Given the description of an element on the screen output the (x, y) to click on. 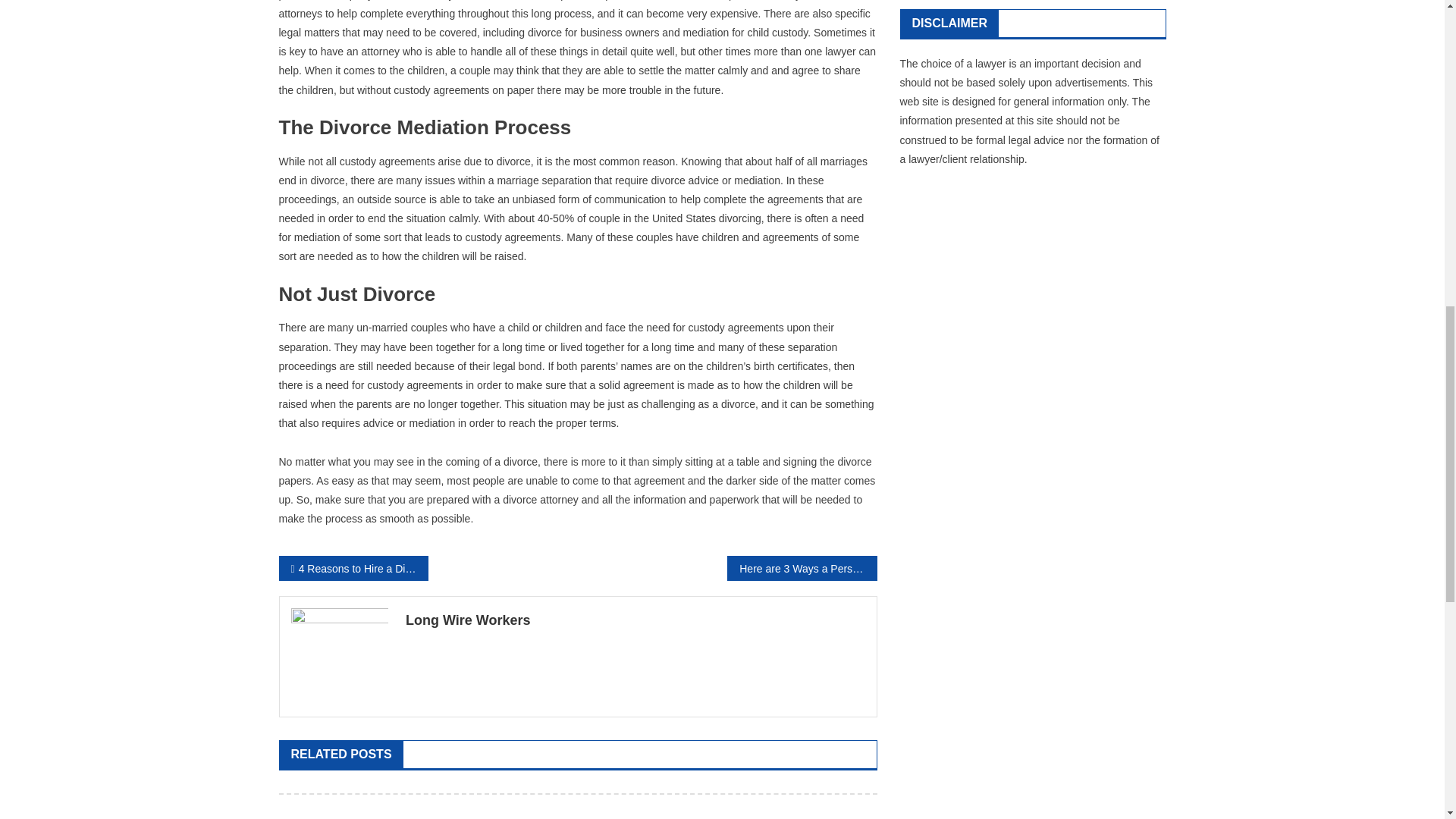
Here are 3 Ways a Personal Injury Lawyer Can Help You (801, 567)
4 Reasons to Hire a Divorce Lawyer Right Away (353, 567)
Long Wire Workers (635, 620)
